Given the description of an element on the screen output the (x, y) to click on. 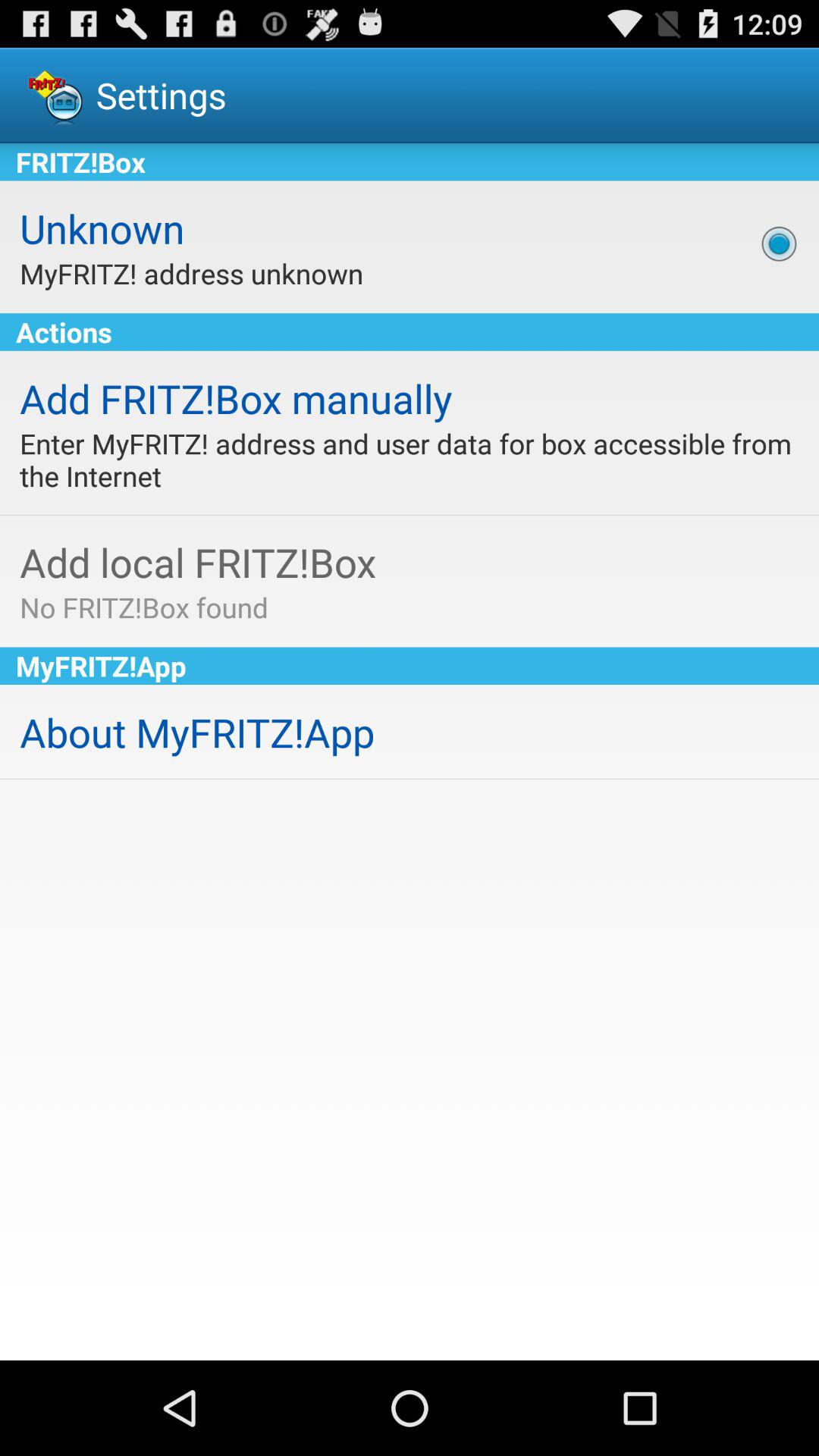
scroll to actions icon (409, 331)
